Given the description of an element on the screen output the (x, y) to click on. 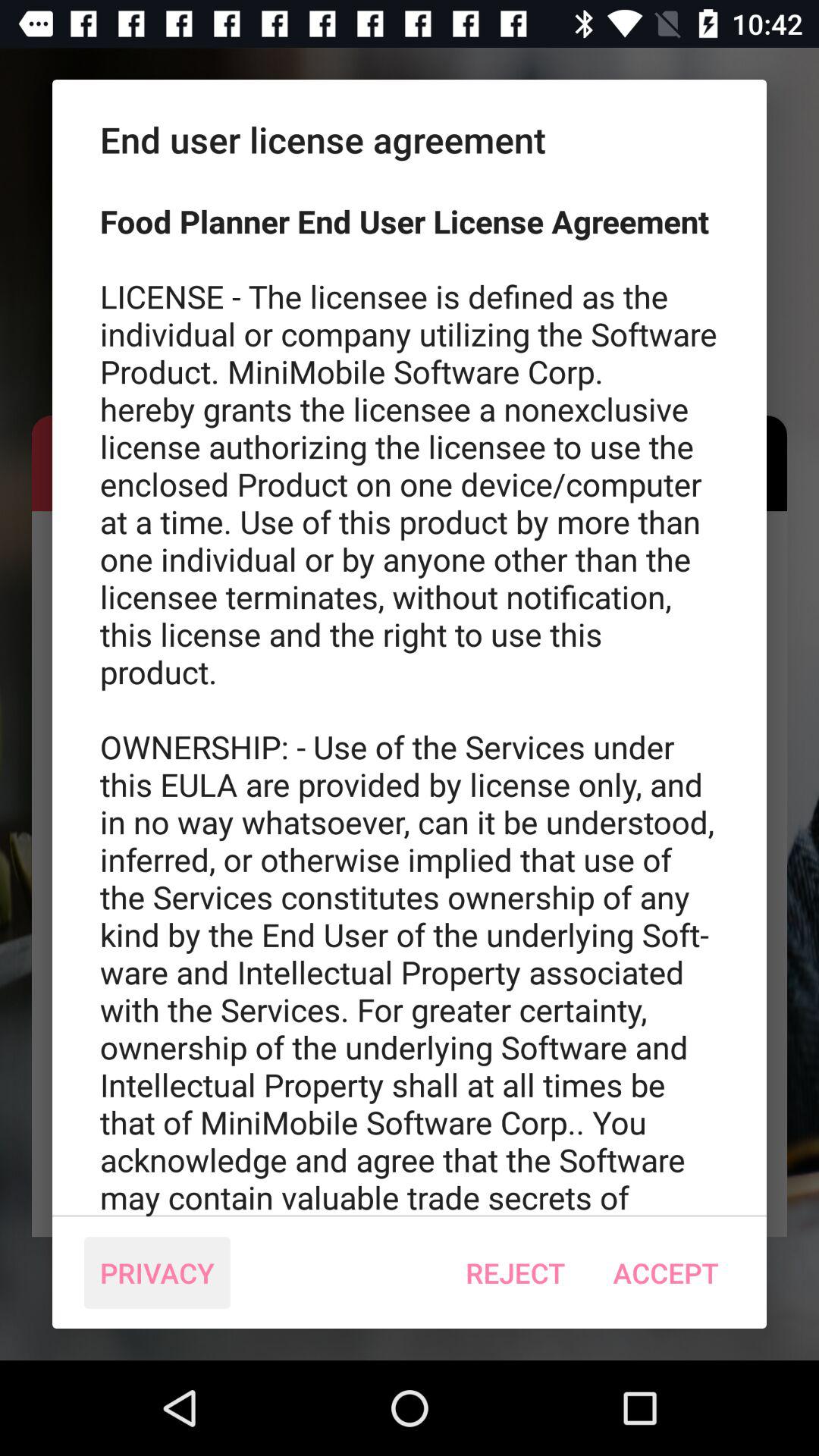
turn off icon below food planner end item (665, 1272)
